Given the description of an element on the screen output the (x, y) to click on. 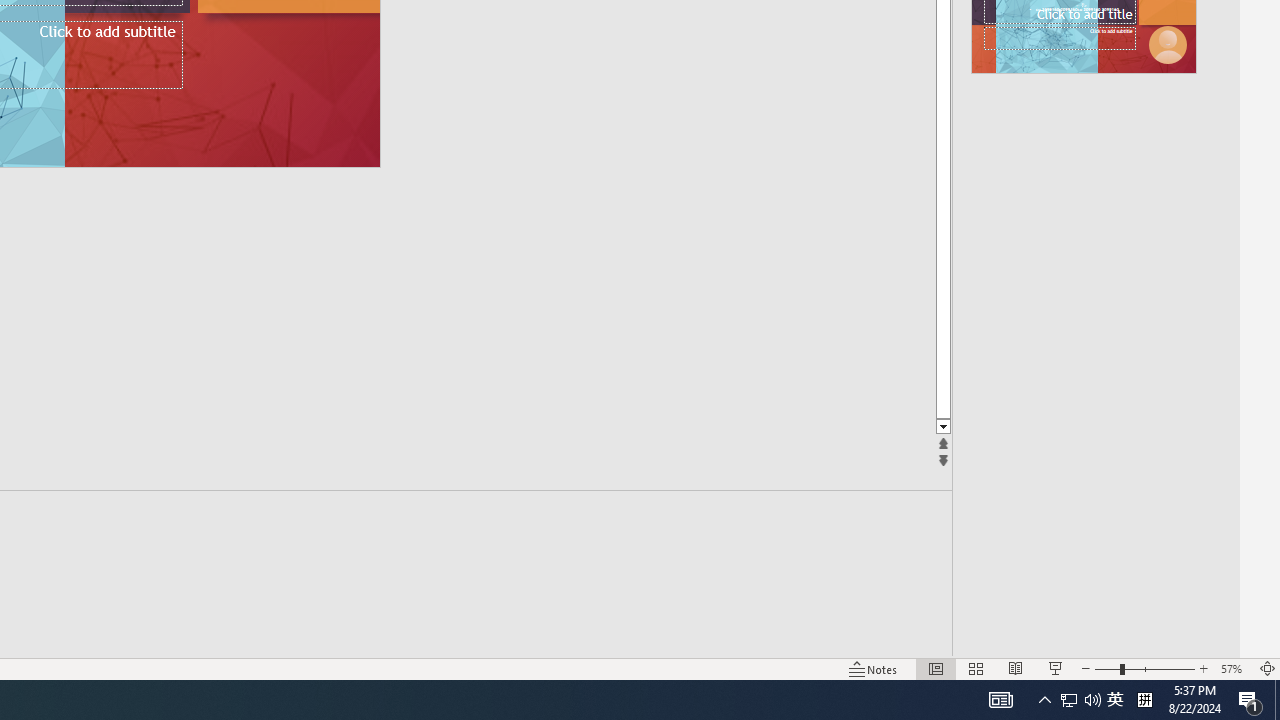
Zoom 57% (1234, 668)
